Given the description of an element on the screen output the (x, y) to click on. 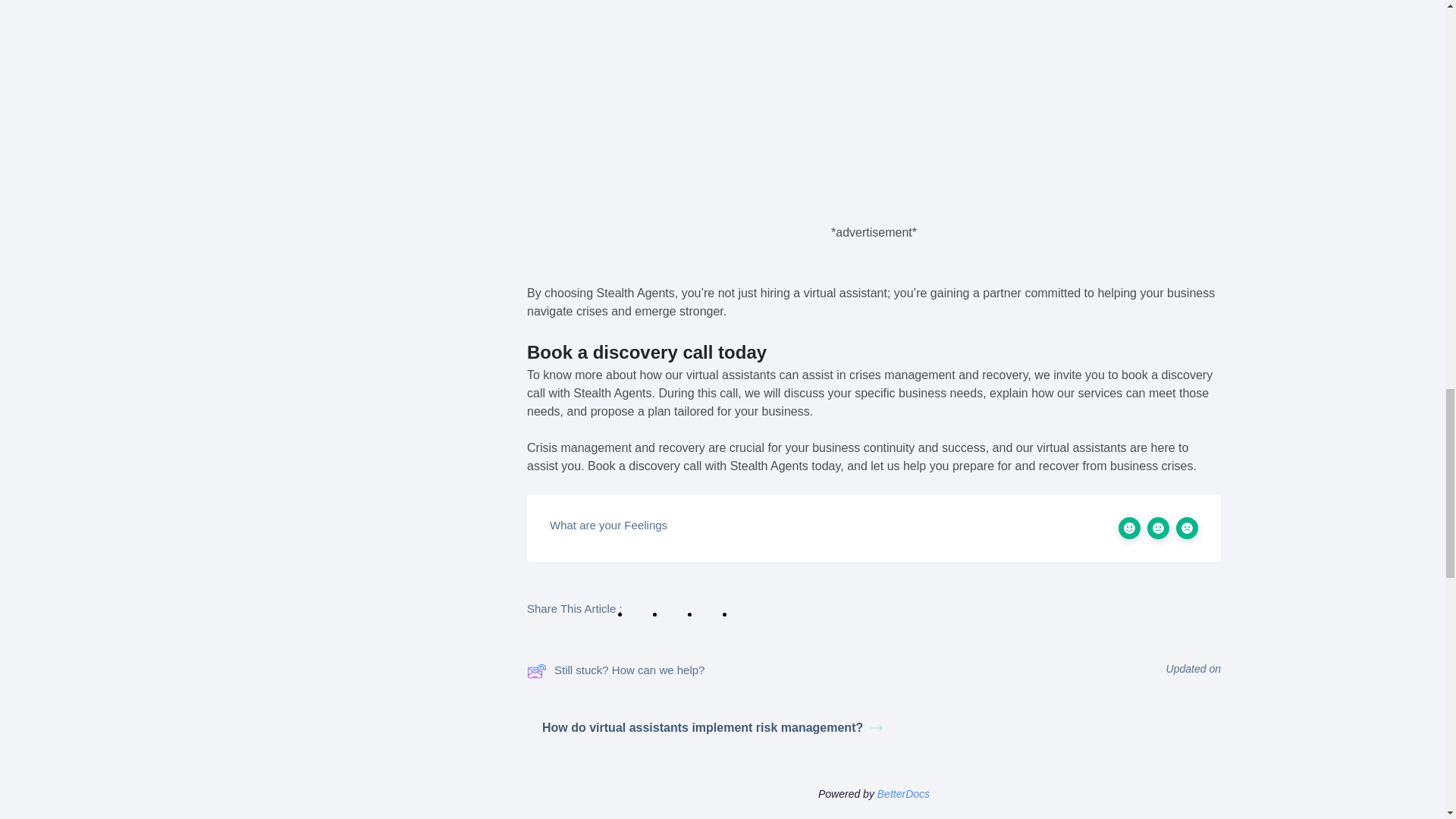
YouTube video player (873, 65)
